Given the description of an element on the screen output the (x, y) to click on. 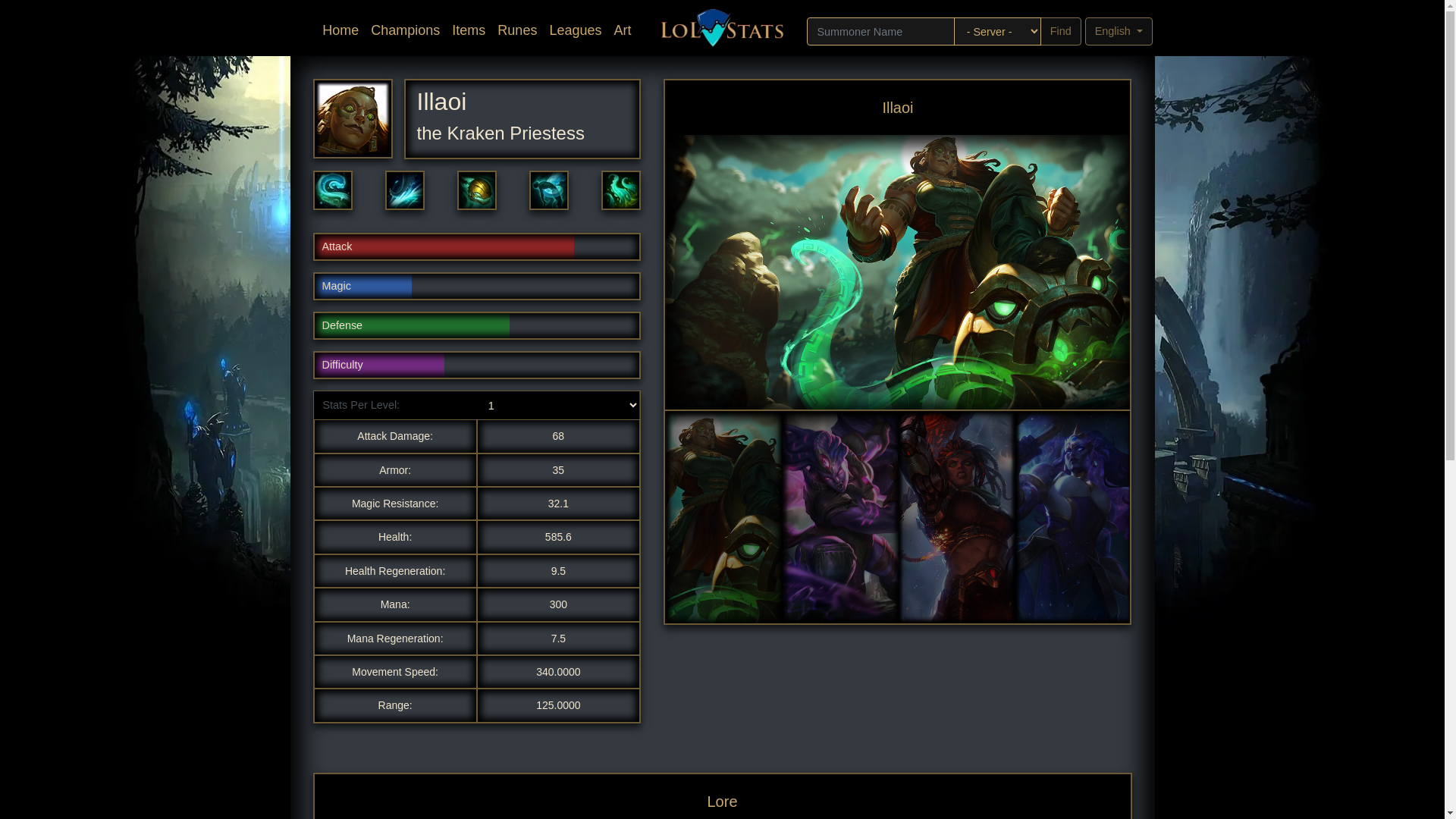
Champions (405, 31)
Leagues (575, 31)
Items (468, 31)
Runes (517, 31)
English (1118, 31)
Find (1061, 31)
